Given the description of an element on the screen output the (x, y) to click on. 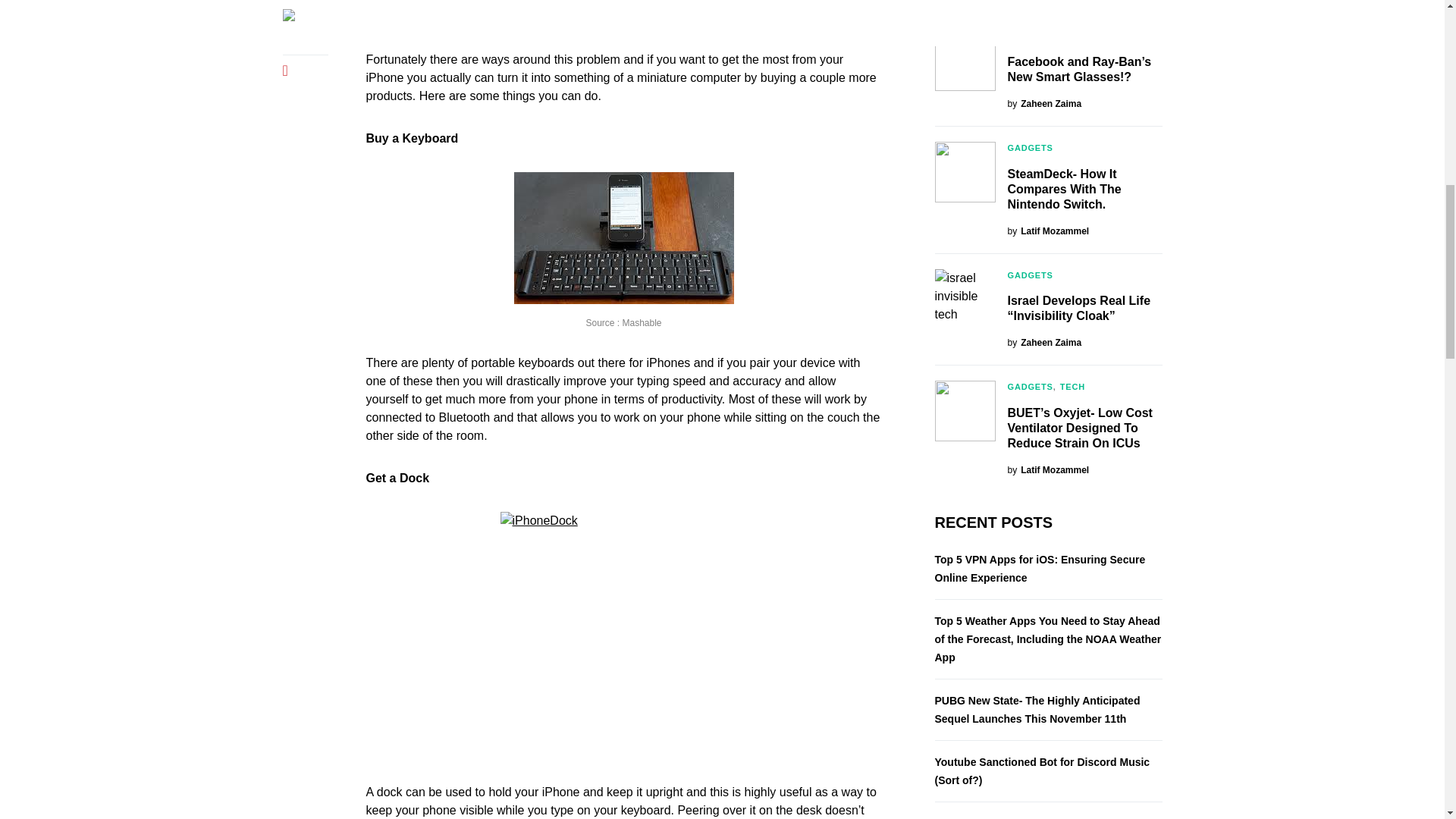
View all posts by Latif Mozammel (1048, 231)
View all posts by Latif Mozammel (1048, 469)
View all posts by Zaheen Zaima (1044, 103)
iPhonekeyboard (623, 237)
iPhoneDock (624, 634)
View all posts by Zaheen Zaima (1044, 343)
